Given the description of an element on the screen output the (x, y) to click on. 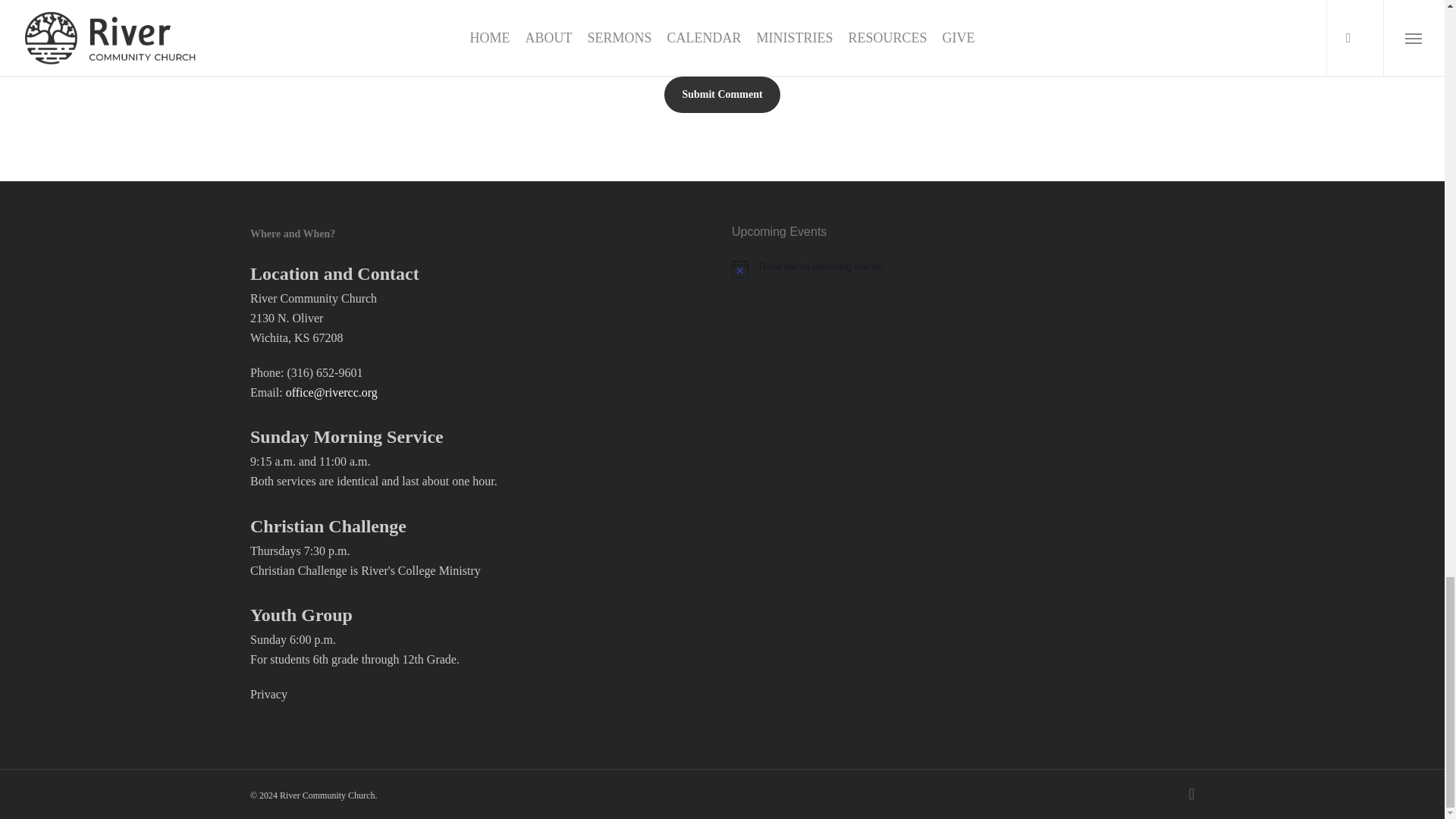
yes (258, 30)
Submit Comment (720, 94)
